Given the description of an element on the screen output the (x, y) to click on. 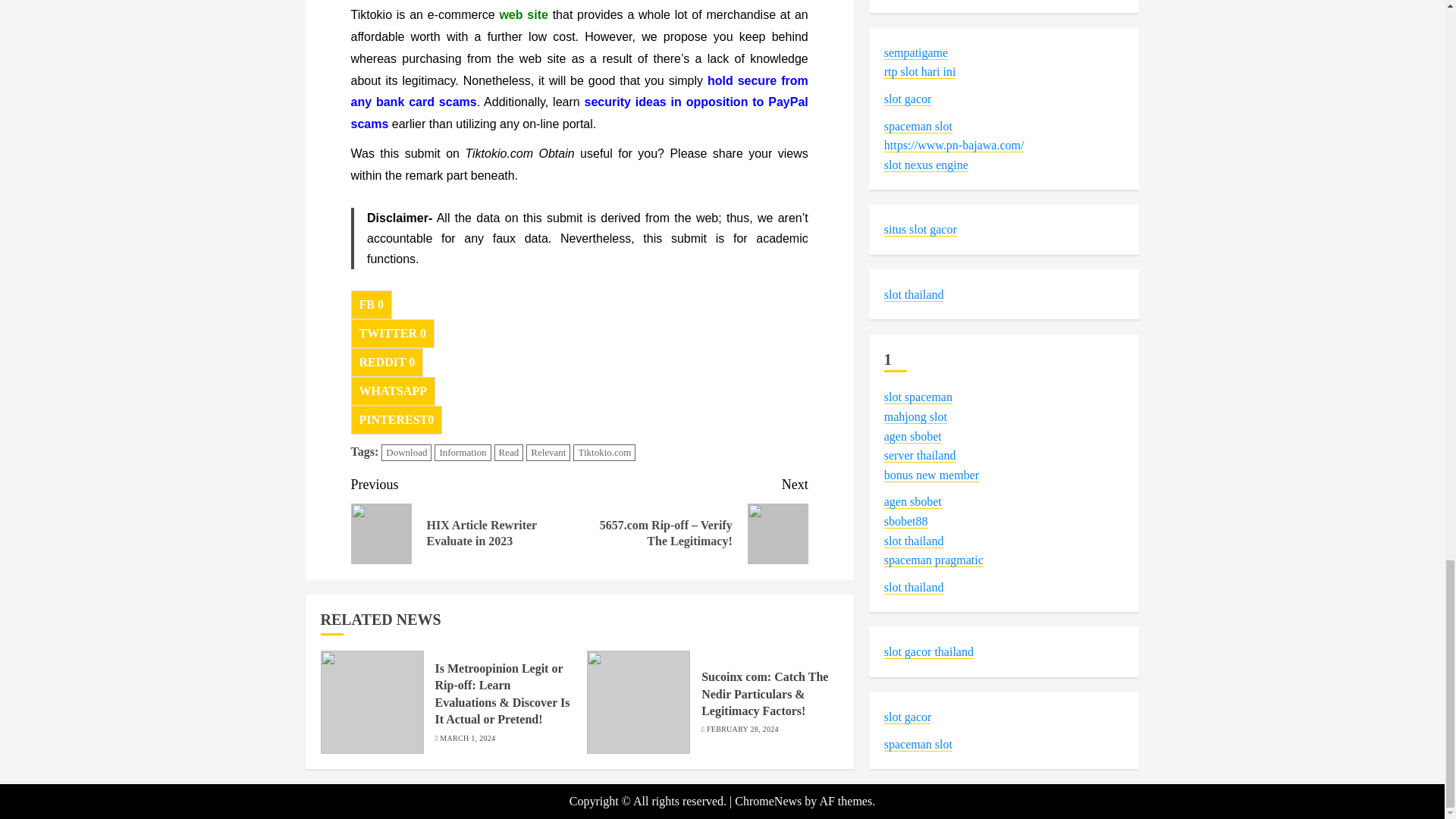
PINTEREST0 (396, 419)
Relevant (547, 452)
REDDIT 0 (386, 362)
WHATSAPP (391, 390)
TWITTER 0 (391, 333)
Read (509, 452)
Tiktokio.com (603, 452)
Information (461, 452)
Download (405, 452)
FB 0 (370, 304)
